Given the description of an element on the screen output the (x, y) to click on. 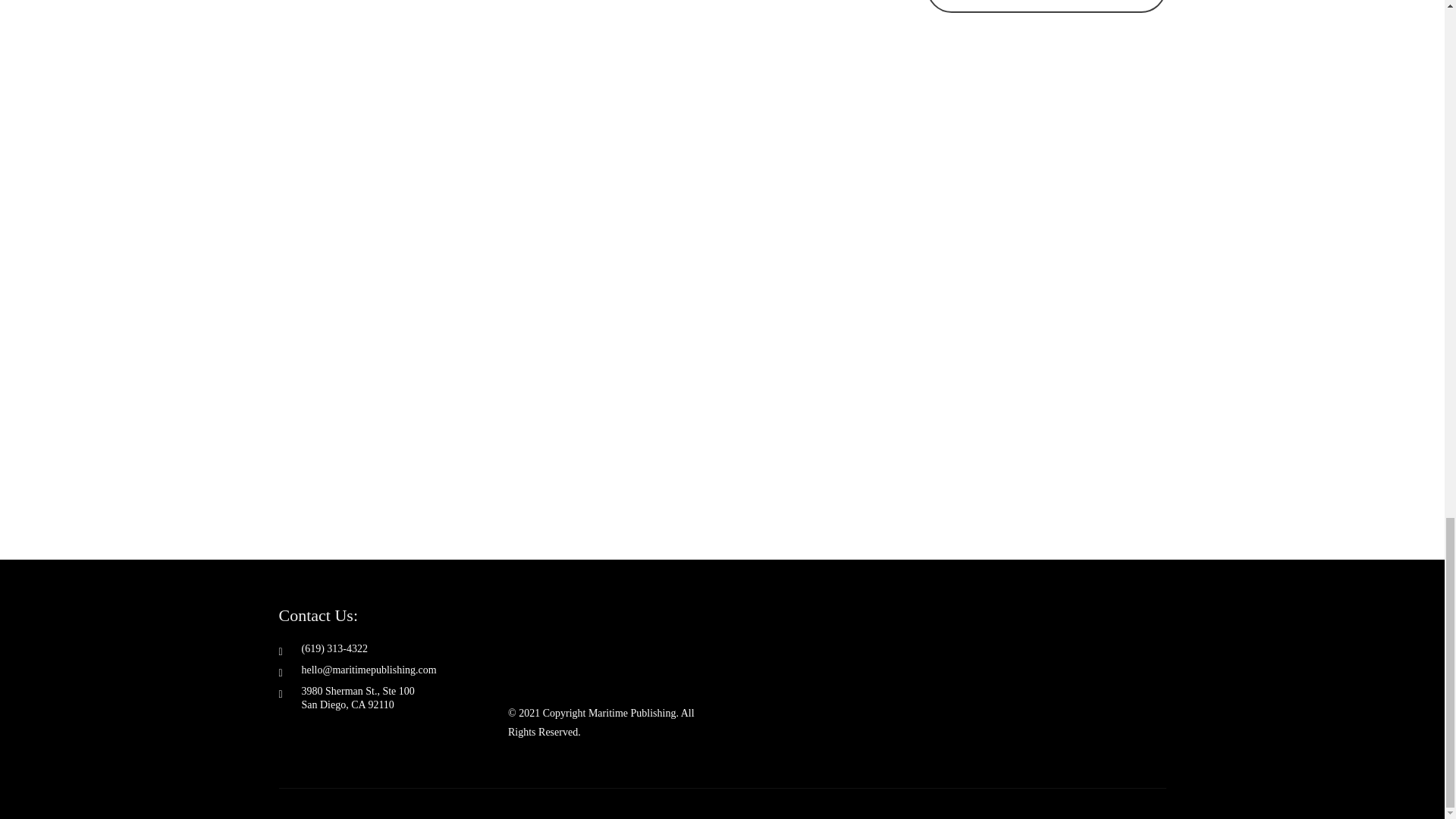
View Current and Past Issues (1046, 6)
